Given the description of an element on the screen output the (x, y) to click on. 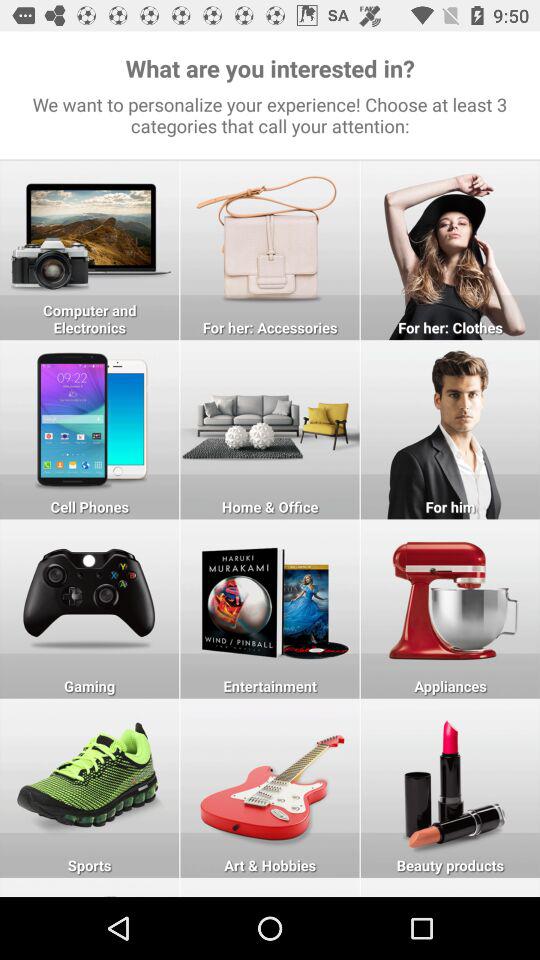
select computer and electronics (89, 250)
